Given the description of an element on the screen output the (x, y) to click on. 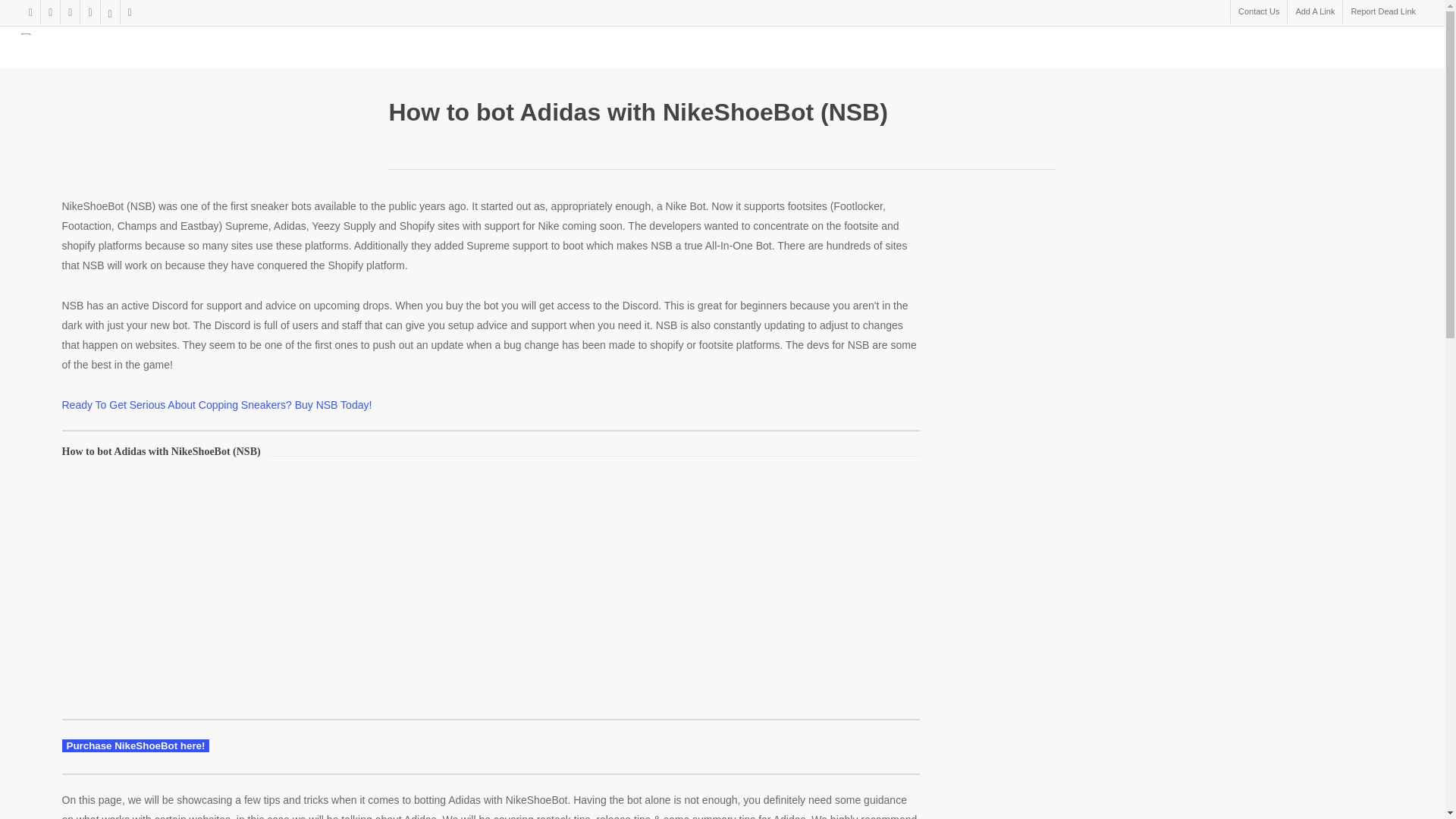
Report Dead Link (1382, 11)
Add A Link (1314, 11)
Bots (708, 33)
Groups (790, 33)
Contact Us (1258, 11)
Home (634, 33)
Proxies (877, 33)
